Given the description of an element on the screen output the (x, y) to click on. 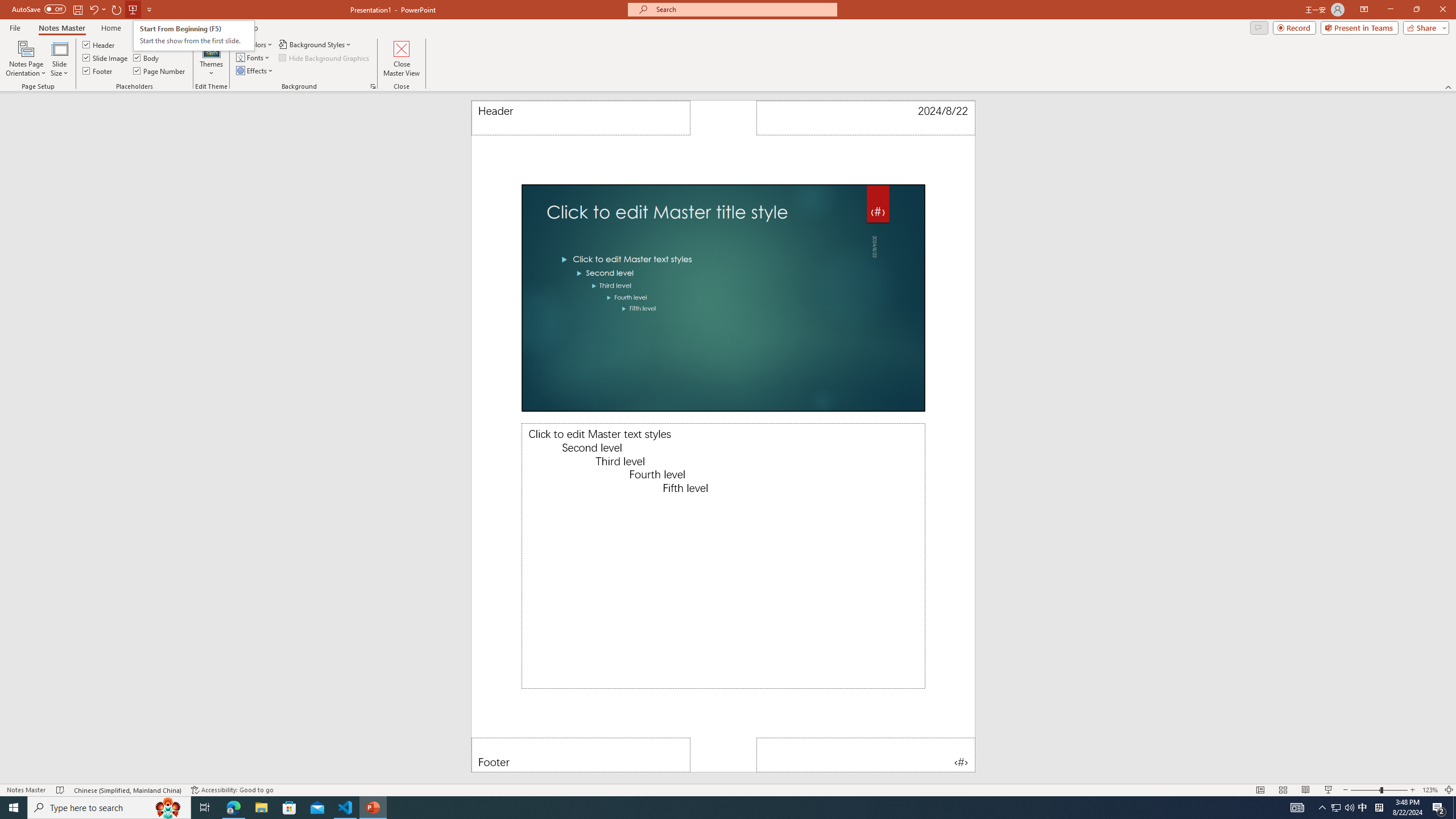
Close Master View (400, 58)
Header (98, 44)
Notes Page Orientation (26, 58)
Date (866, 117)
Background Styles (315, 44)
Accessibility Checker Accessibility: Good to go (232, 790)
Slide Image (105, 56)
Format Background... (372, 85)
